Given the description of an element on the screen output the (x, y) to click on. 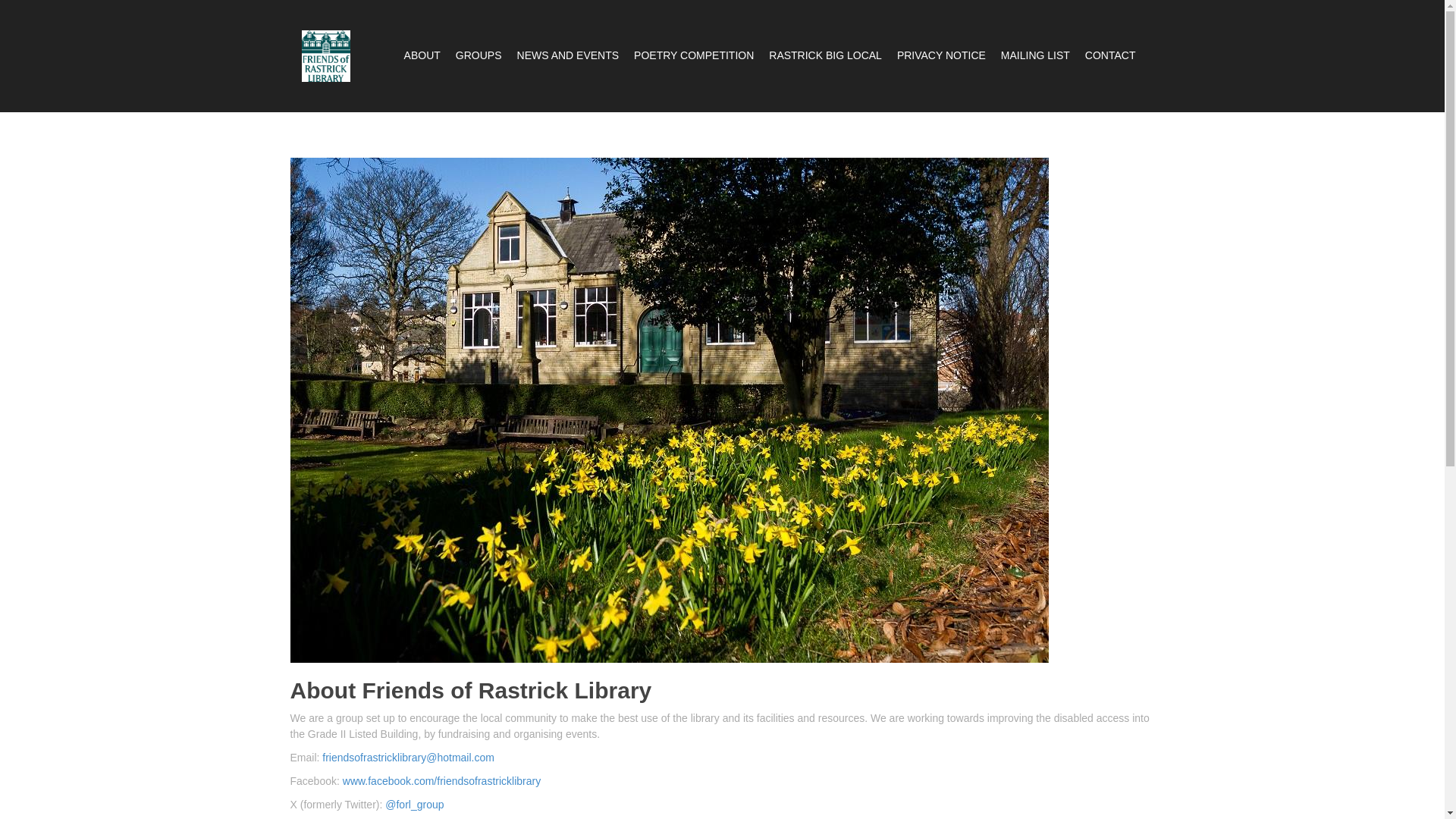
ABOUT (422, 55)
RASTRICK BIG LOCAL (825, 55)
MAILING LIST (1035, 55)
Friends of Rastrick Library (325, 55)
POETRY COMPETITION (693, 55)
NEWS AND EVENTS (568, 55)
GROUPS (478, 55)
PRIVACY NOTICE (940, 55)
CONTACT (1109, 55)
